Given the description of an element on the screen output the (x, y) to click on. 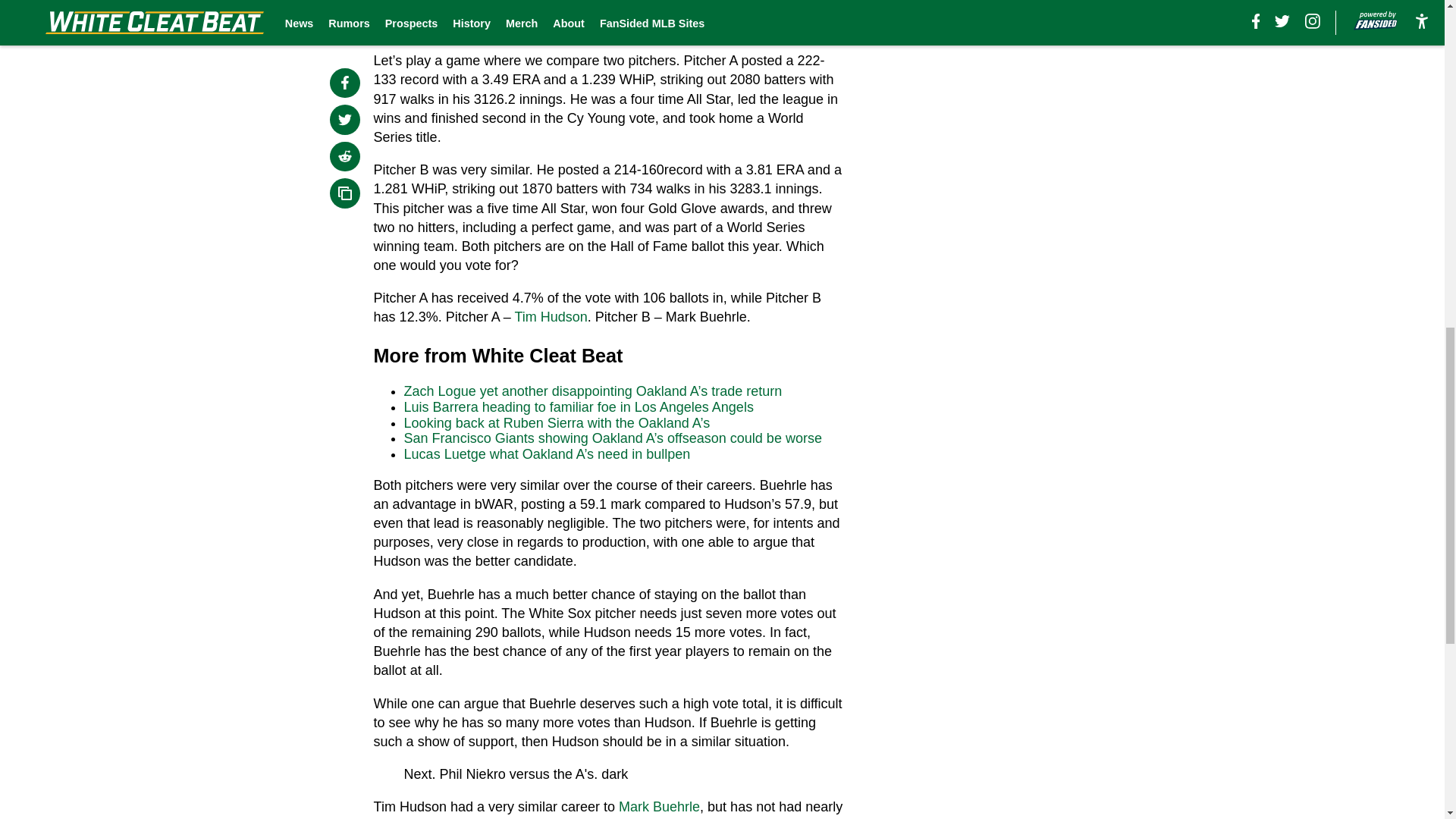
Mark Buehrle (659, 806)
Tim Hudson (549, 316)
Luis Barrera heading to familiar foe in Los Angeles Angels (579, 406)
